Given the description of an element on the screen output the (x, y) to click on. 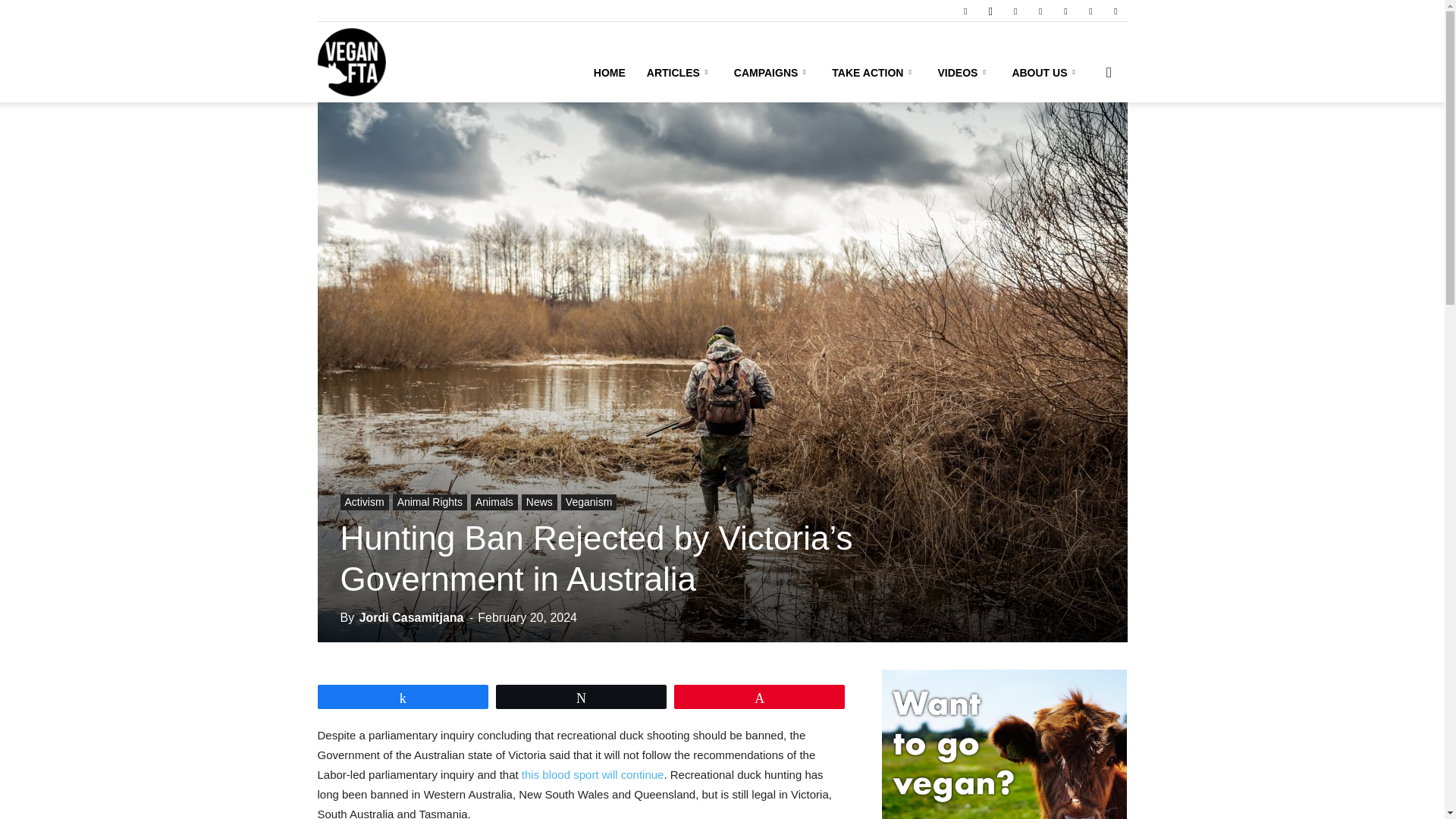
Instagram (989, 10)
Linkedin (1015, 10)
TikTok (1065, 10)
Youtube (1114, 10)
Pinterest (1040, 10)
Twitter (1090, 10)
Facebook (964, 10)
Vegan For The Animals (419, 61)
